Given the description of an element on the screen output the (x, y) to click on. 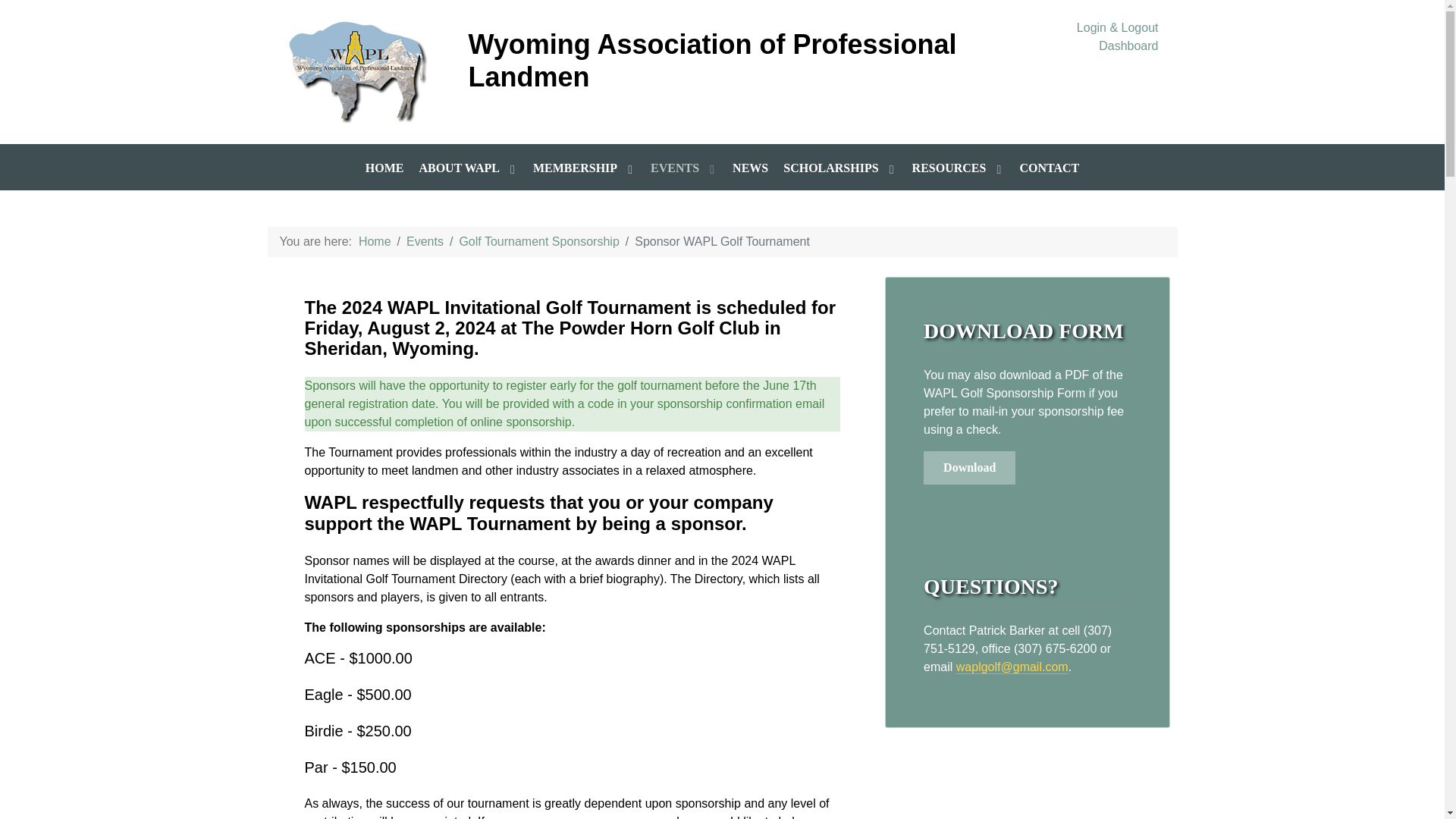
WAPL Sponsorship Form (968, 467)
EVENTS (683, 167)
Wyoming Association of Professional Landmen (358, 70)
HOME (384, 167)
Home (374, 241)
Dashboard (1128, 45)
NEWS (750, 167)
CONTACT (1048, 167)
